Given the description of an element on the screen output the (x, y) to click on. 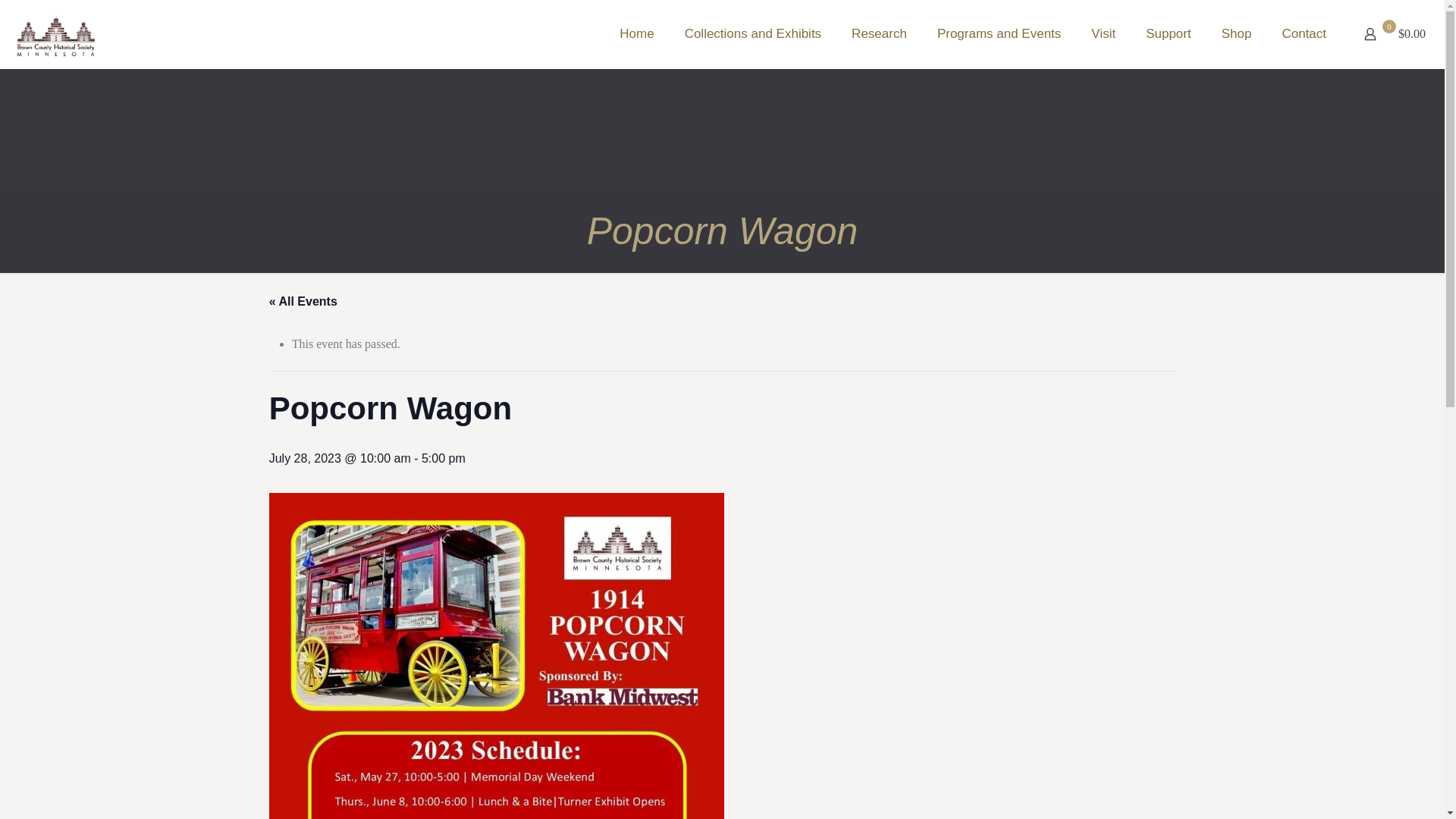
Brown County Historical Society (55, 33)
Collections and Exhibits (752, 33)
Home (636, 33)
Contact (1303, 33)
Research (878, 33)
Support (1169, 33)
Programs and Events (998, 33)
